Given the description of an element on the screen output the (x, y) to click on. 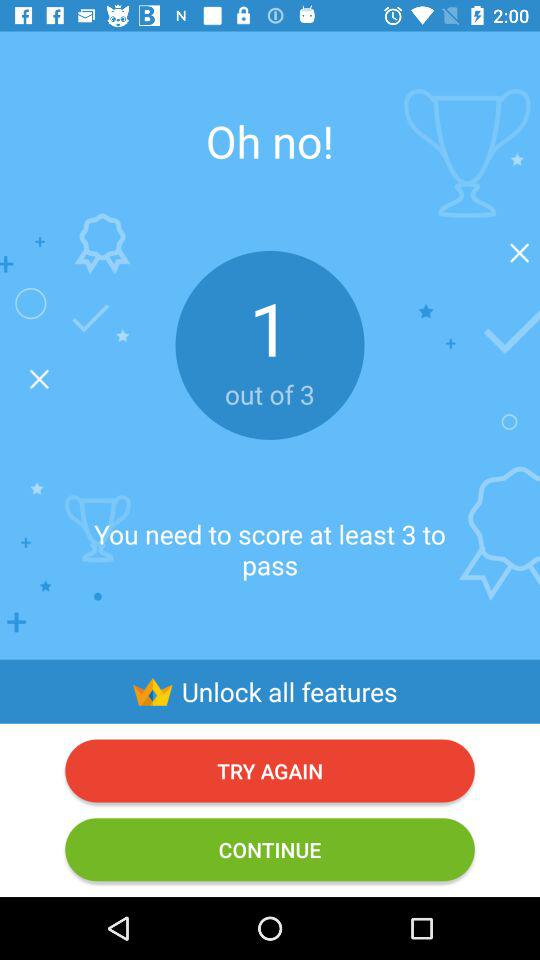
press continue item (269, 849)
